Given the description of an element on the screen output the (x, y) to click on. 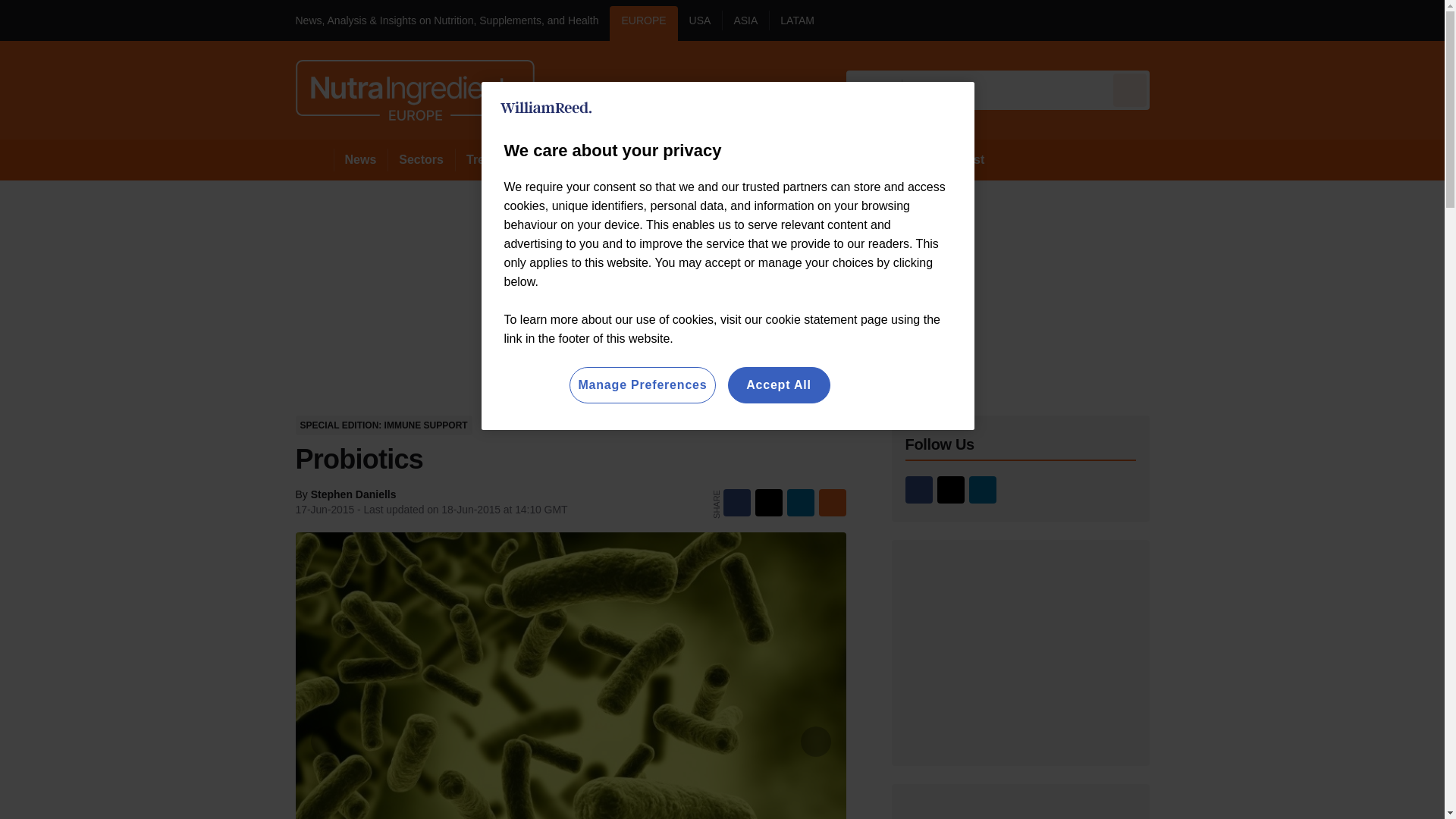
3rd party ad content (1020, 652)
SUBSCRIBE (1318, 20)
News (360, 159)
My account (1256, 20)
Home (313, 159)
Register (1231, 20)
Sign in (1171, 20)
LATAM (796, 22)
NutraIngredients Europe (414, 89)
3rd party ad content (1020, 810)
Sectors (420, 159)
Send (1129, 90)
William Reed (545, 107)
